Given the description of an element on the screen output the (x, y) to click on. 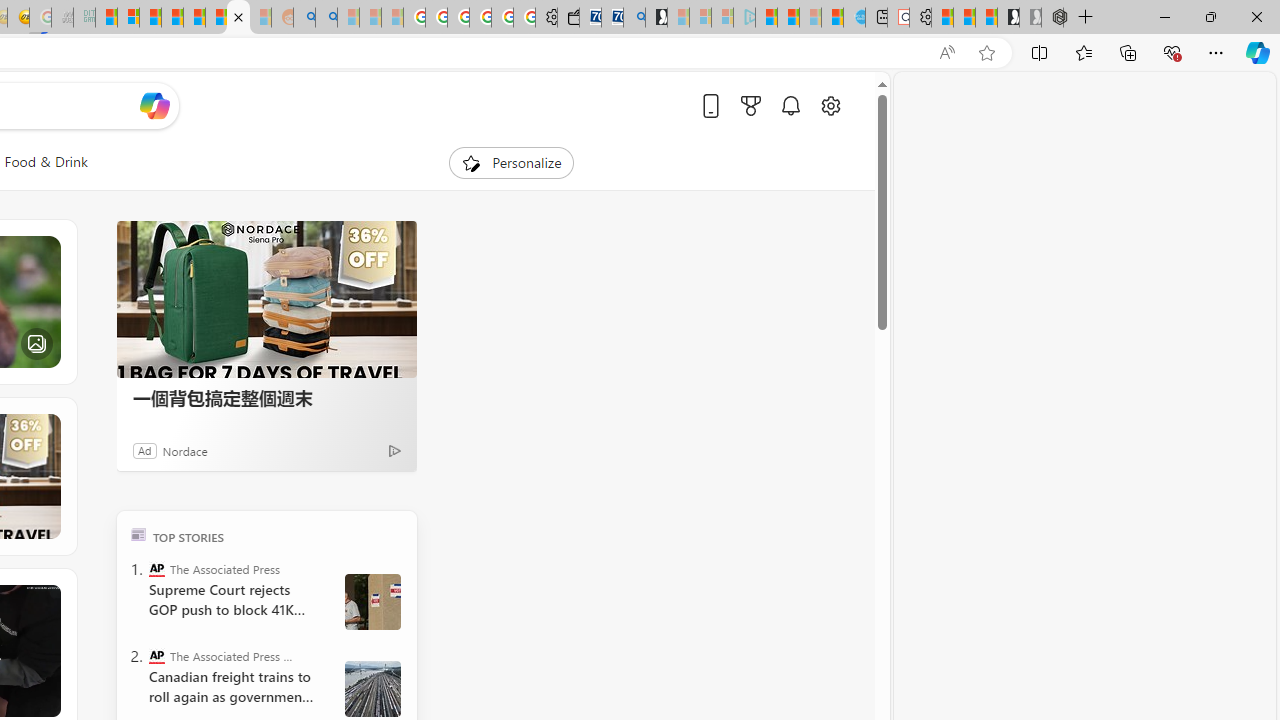
Personalize (511, 162)
Pets - MSN (238, 17)
Microsoft rewards (749, 105)
Close tab (238, 16)
Student Loan Update: Forgiveness Program Ends This Month (172, 17)
Split screen (1039, 52)
MSNBC - MSN (106, 17)
Collections (1128, 52)
Minimize (1164, 16)
Copilot (Ctrl+Shift+.) (1258, 52)
